Given the description of an element on the screen output the (x, y) to click on. 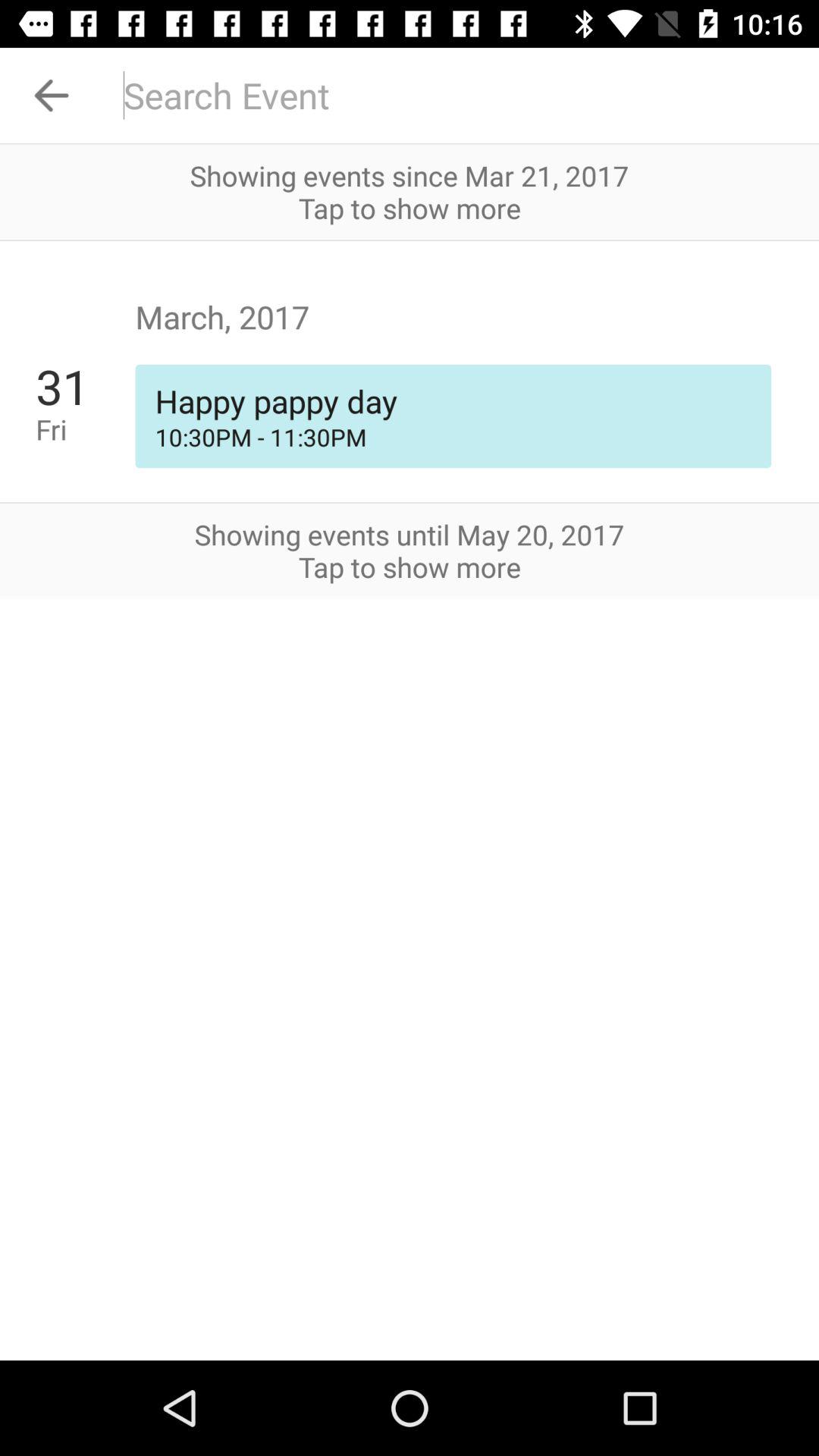
tap icon below the march, 2017 app (453, 400)
